Given the description of an element on the screen output the (x, y) to click on. 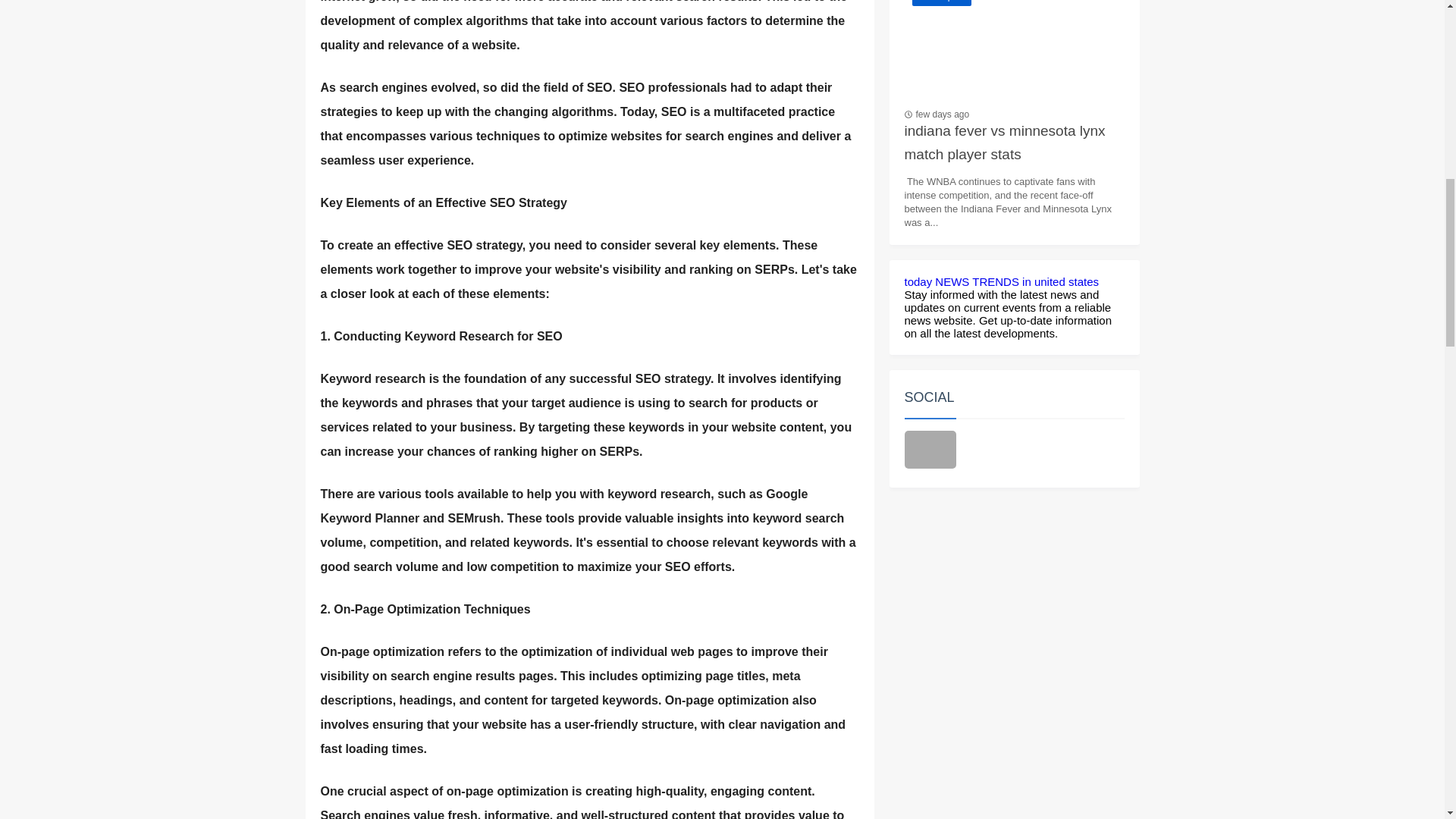
news sport (1014, 51)
indiana fever vs minnesota lynx match player stats (1014, 145)
few days ago (942, 113)
today NEWS TRENDS in united states (1001, 281)
